Given the description of an element on the screen output the (x, y) to click on. 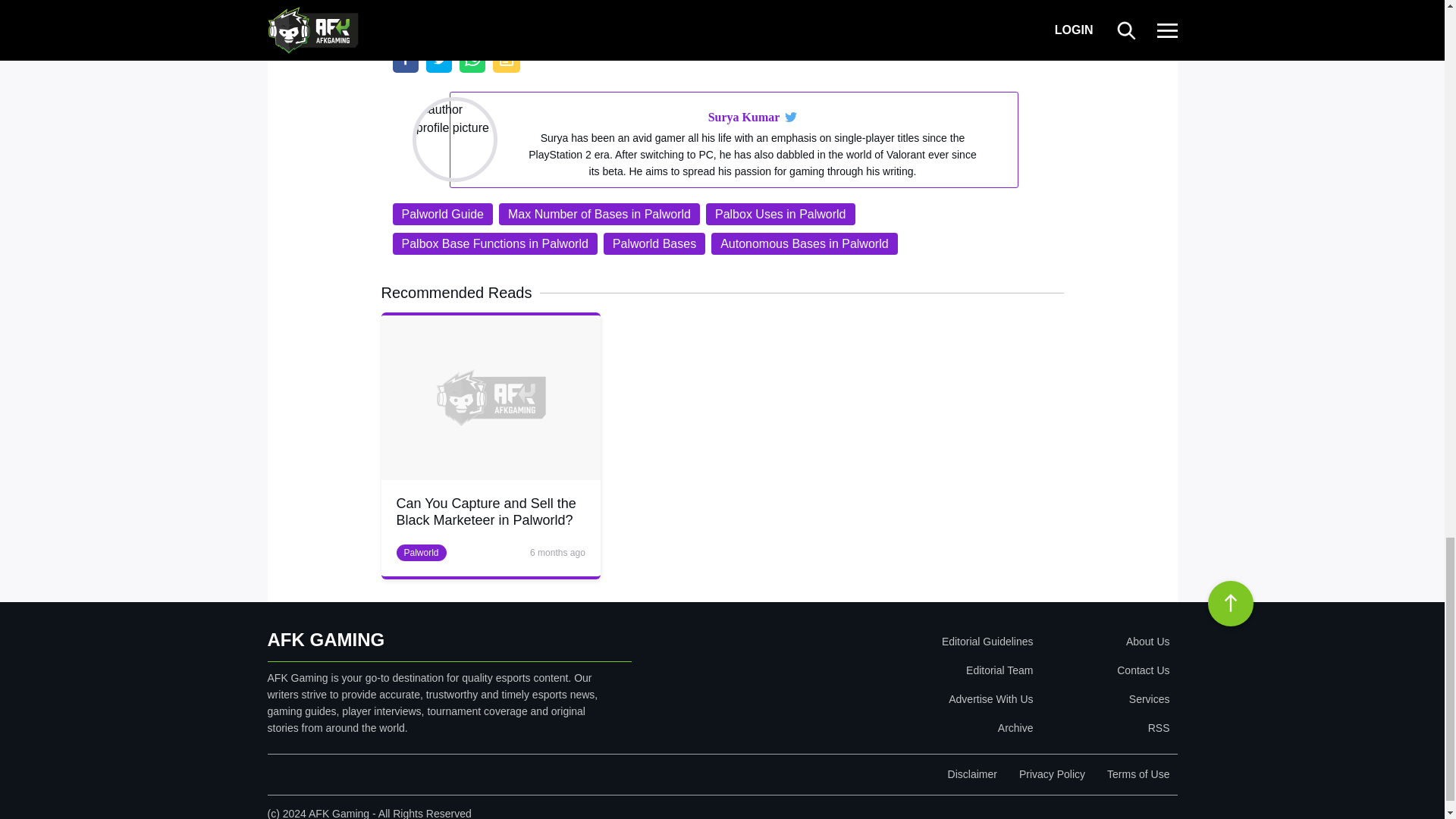
RSS (1105, 727)
Privacy Policy (1051, 774)
Palworld Bases (654, 243)
Palbox Base Functions in Palworld (494, 243)
Editorial Team (899, 670)
Max Number of Bases in Palworld (599, 214)
About Us (1105, 641)
Contact Us (1105, 670)
Disclaimer (972, 774)
Services (1105, 698)
